Given the description of an element on the screen output the (x, y) to click on. 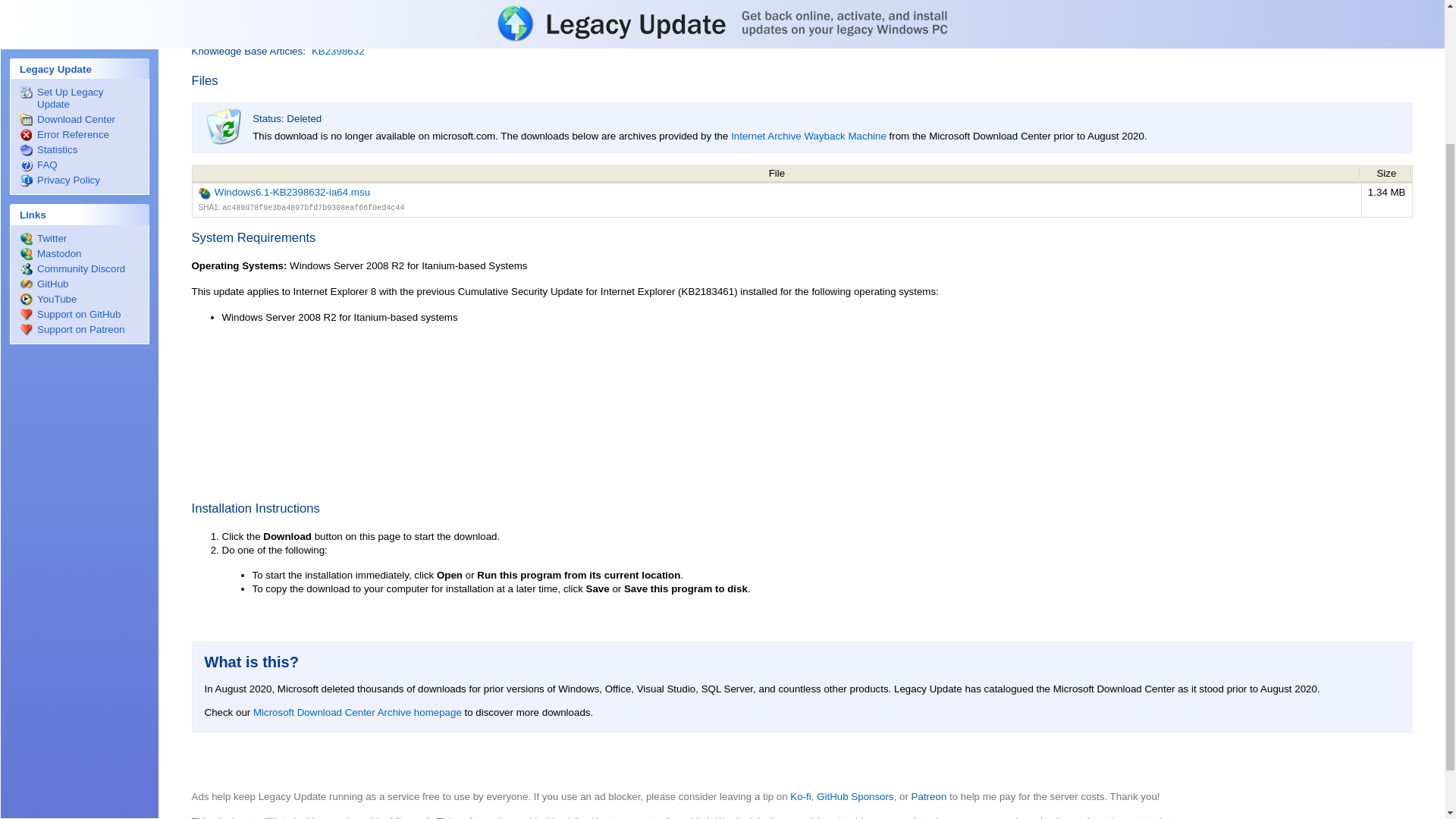
Windows6.1-KB2398632-ia64.msu (776, 192)
Community Discord (79, 95)
Patreon (929, 796)
Ko-fi (800, 796)
Mastodon (79, 80)
GitHub Sponsors (854, 796)
Microsoft Download Center Archive homepage (357, 712)
Support on Patreon (79, 155)
Privacy Policy (79, 6)
Internet Archive Wayback Machine (808, 135)
